Given the description of an element on the screen output the (x, y) to click on. 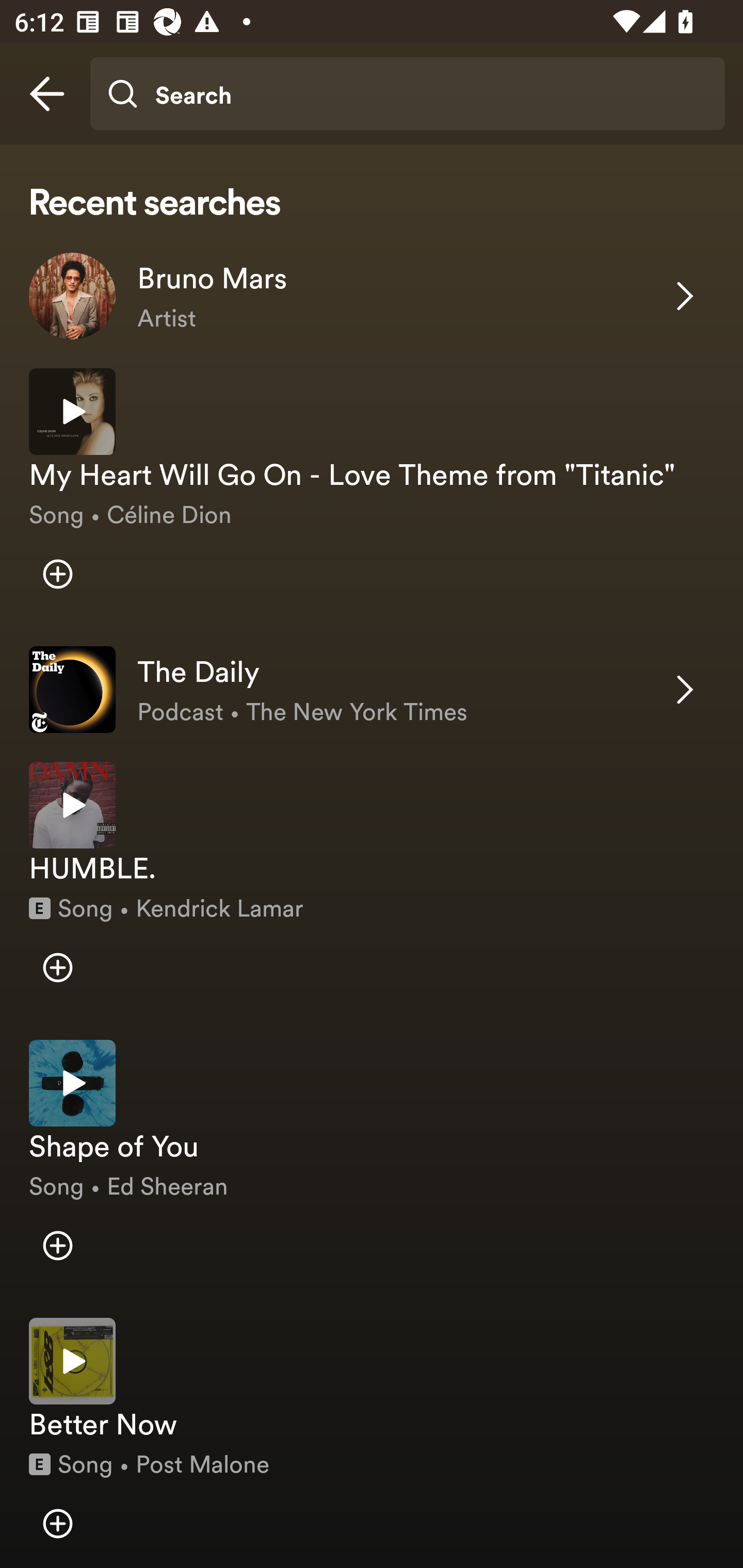
Back (46, 93)
Search (407, 94)
Bruno Mars Artist (371, 296)
Play preview (71, 411)
Add item (57, 573)
The Daily Podcast • The New York Times (371, 689)
Play preview (71, 805)
Add item (57, 967)
Play preview (71, 1082)
Add item (57, 1245)
Play preview (71, 1360)
Add item (57, 1523)
